Given the description of an element on the screen output the (x, y) to click on. 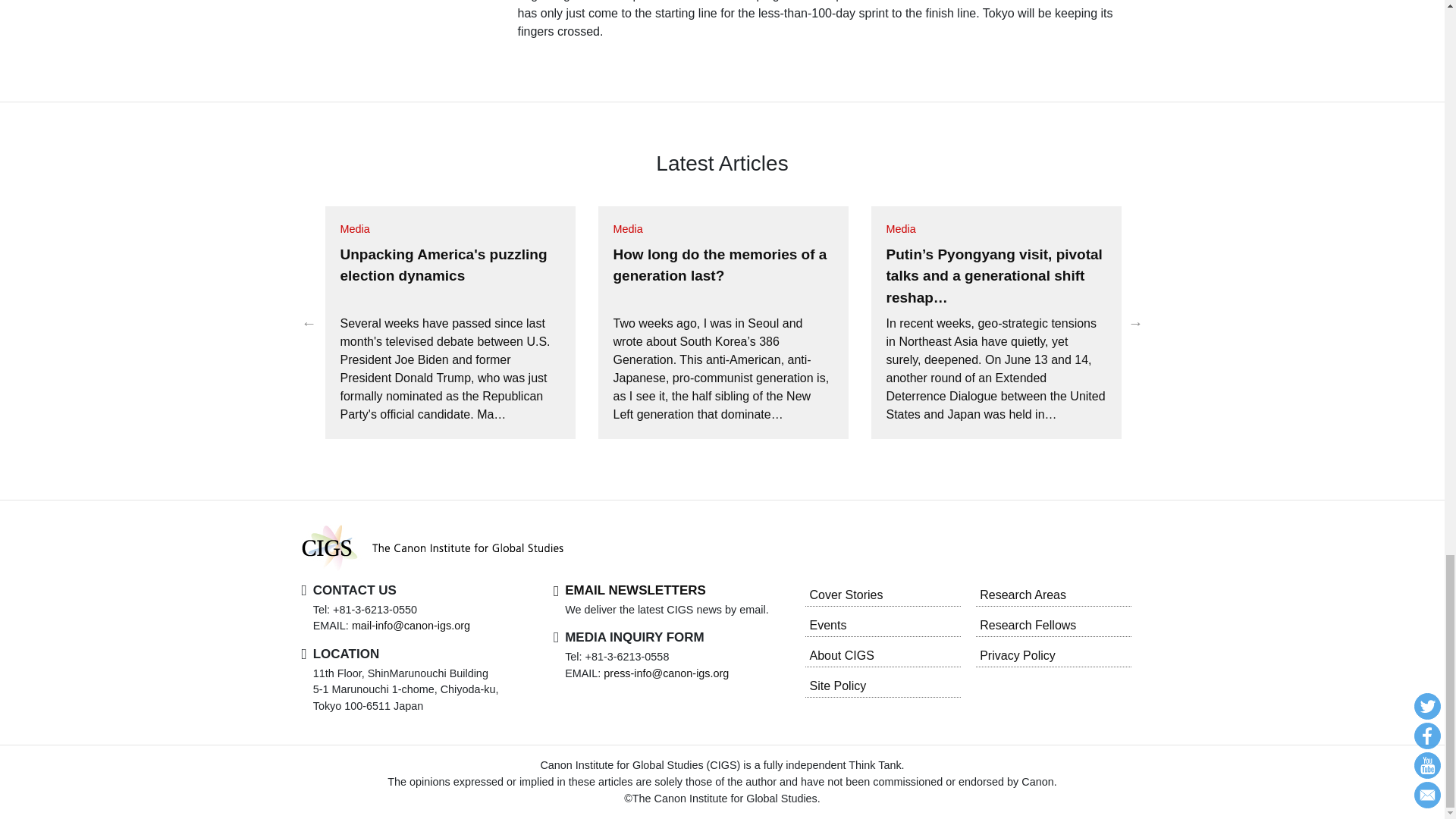
Previous (309, 322)
